Given the description of an element on the screen output the (x, y) to click on. 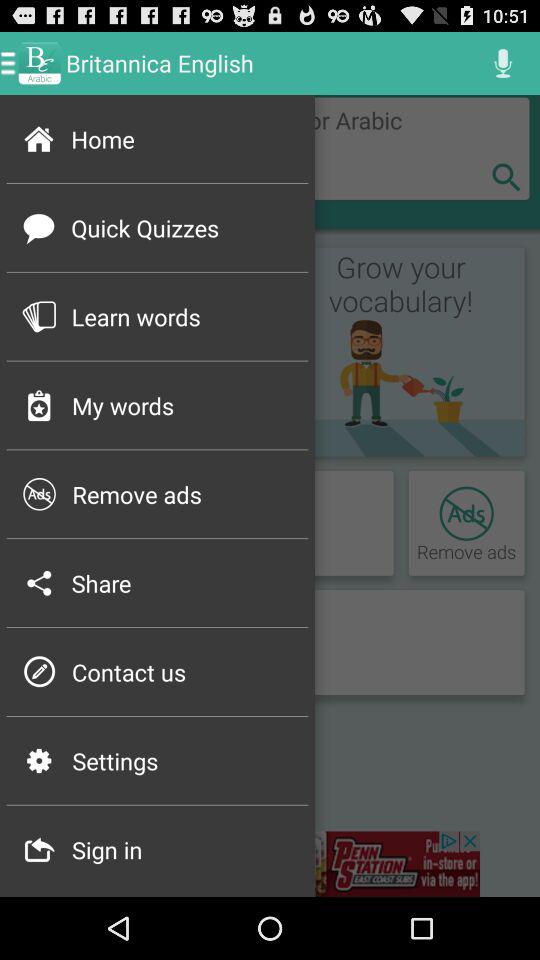
tap app next to the remove ads (39, 494)
